Given the description of an element on the screen output the (x, y) to click on. 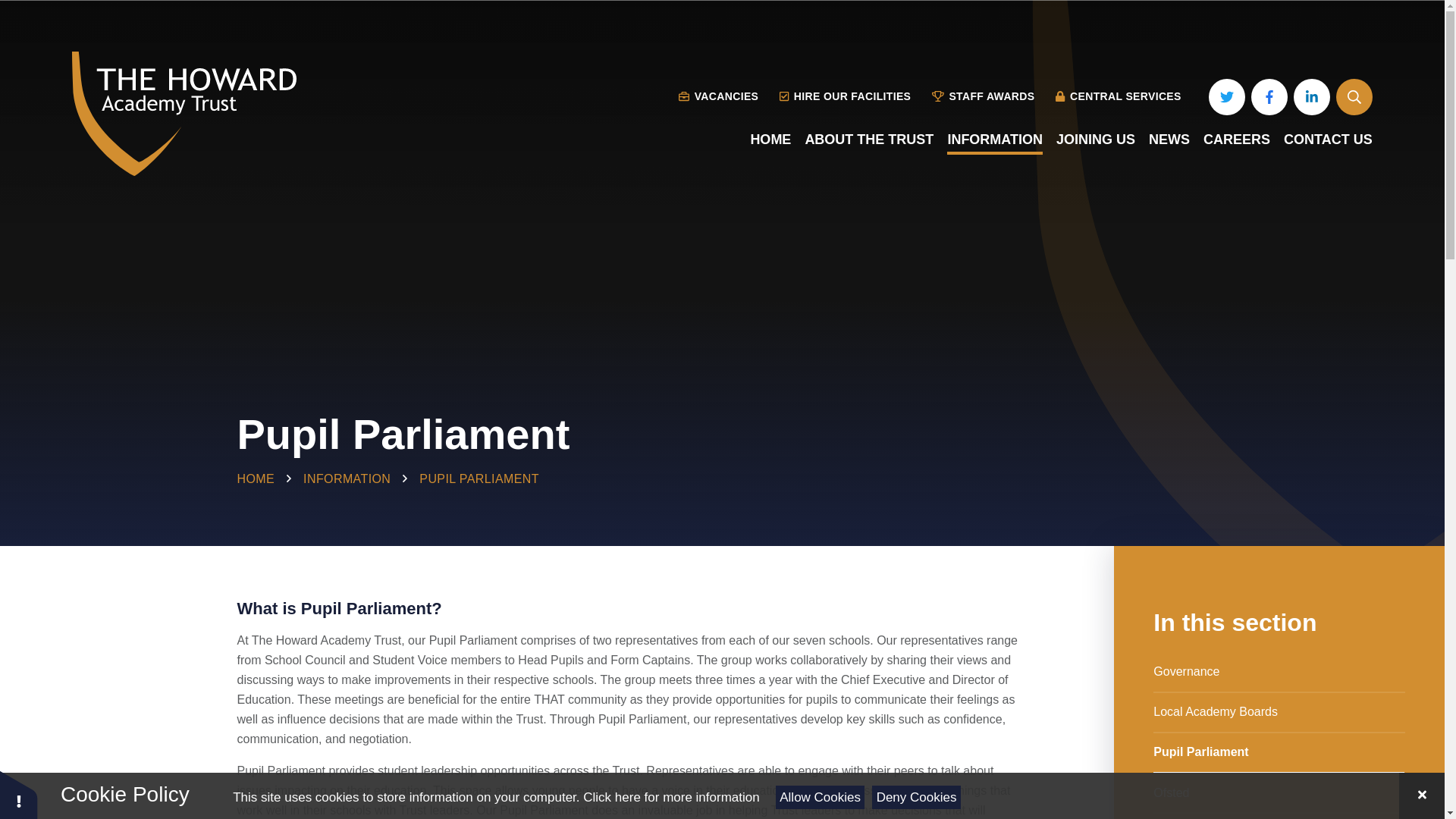
Cookie Settings (18, 794)
INFORMATION (994, 139)
JOINING US (1096, 139)
HOME (769, 139)
ABOUT THE TRUST (869, 139)
See cookie policy (670, 797)
